Given the description of an element on the screen output the (x, y) to click on. 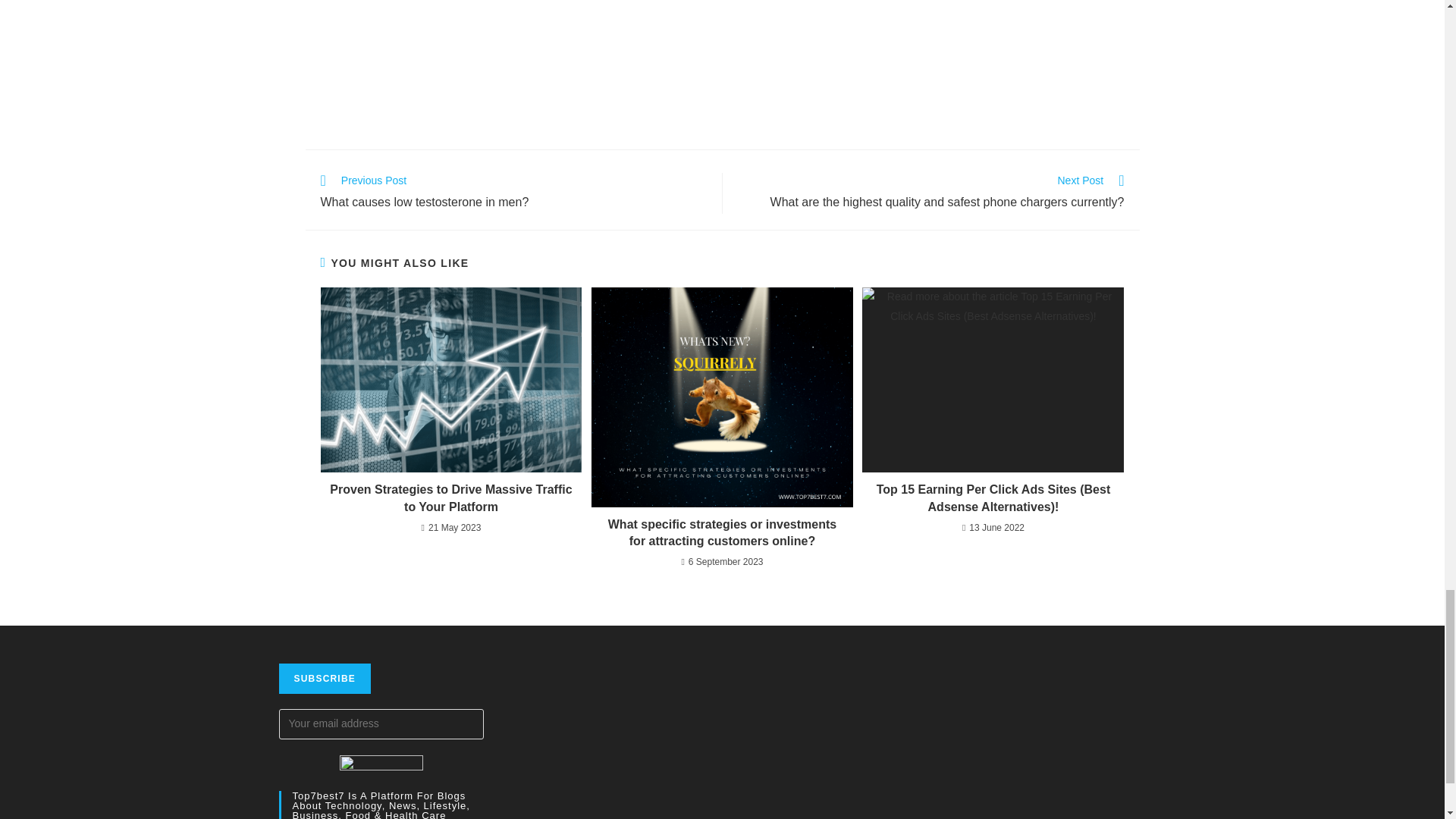
Subscribe (513, 192)
